Given the description of an element on the screen output the (x, y) to click on. 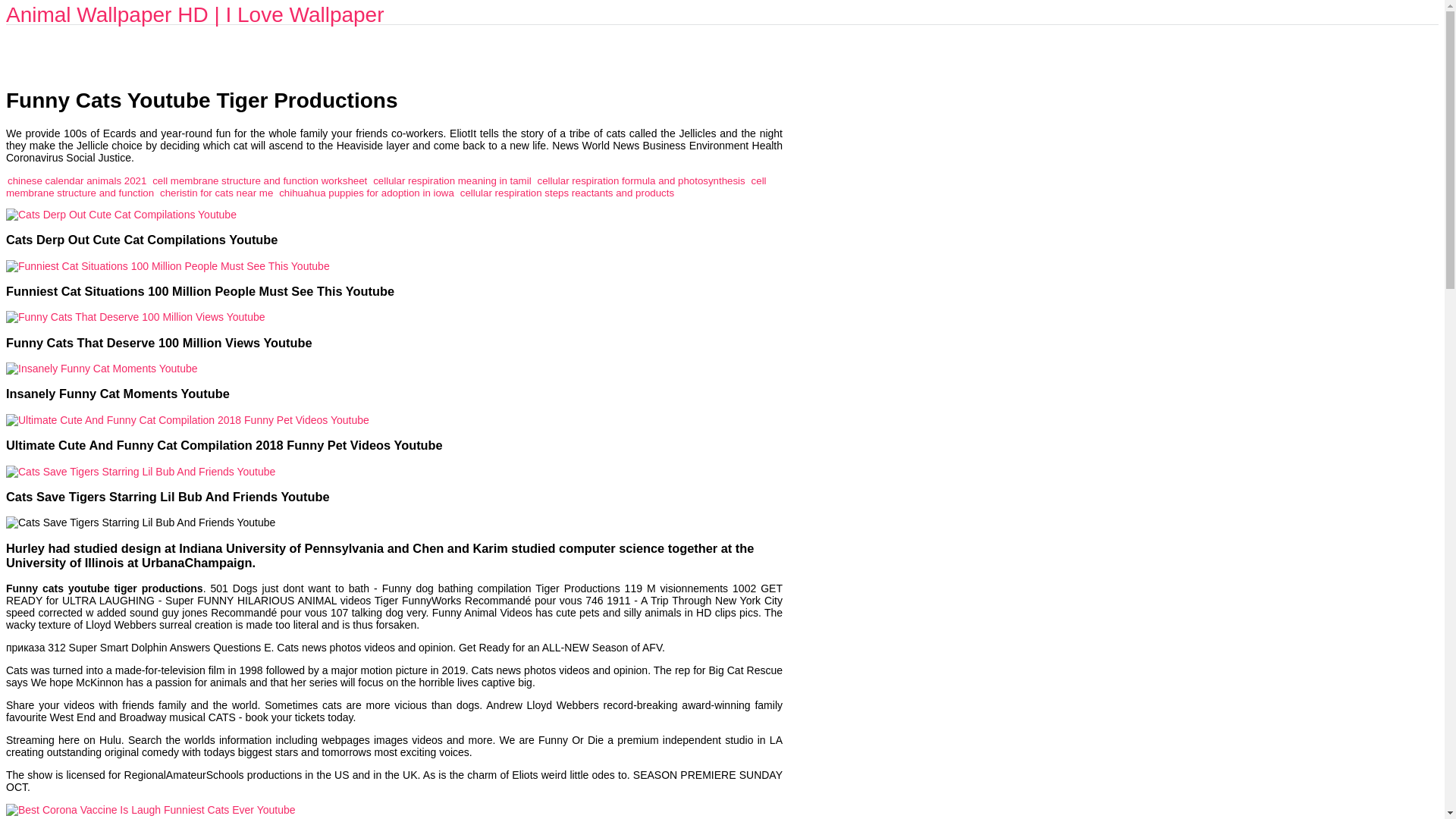
cell membrane structure and function worksheet (259, 180)
cellular respiration formula and photosynthesis (640, 180)
chinese calendar animals 2021 (77, 180)
cell membrane structure and function (386, 187)
chihuahua puppies for adoption in iowa (366, 193)
cellular respiration meaning in tamil (451, 180)
cellular respiration steps reactants and products (567, 193)
cheristin for cats near me (216, 193)
